Given the description of an element on the screen output the (x, y) to click on. 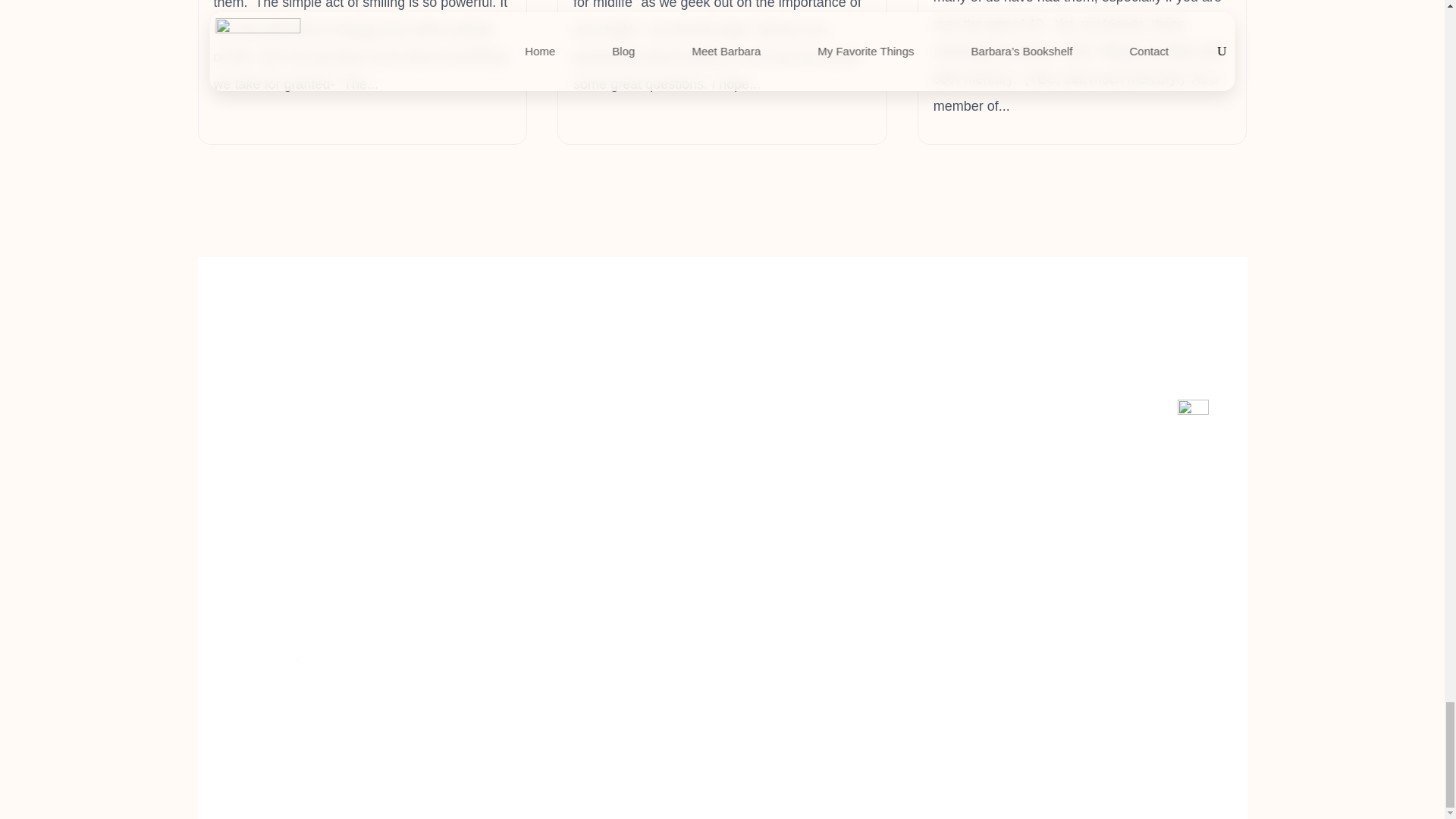
Follow on Pinterest (996, 443)
header-logo (328, 690)
Follow on Instagram (965, 443)
Follow on Facebook (935, 443)
back to top (1192, 414)
